Given the description of an element on the screen output the (x, y) to click on. 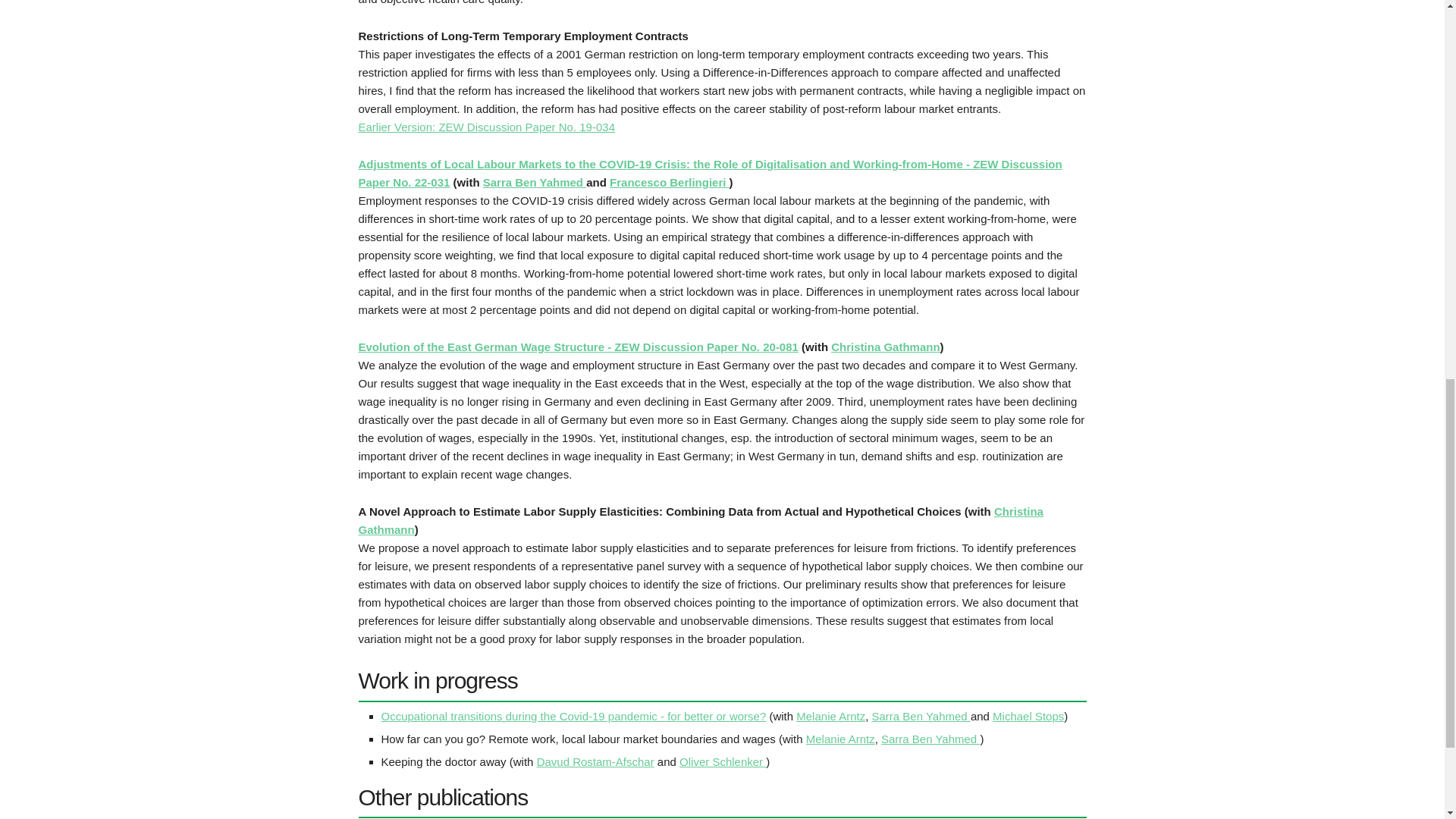
Francesco Berlingieri (669, 182)
Melanie Arntz (840, 738)
Melanie Arntz (830, 716)
Christina Gathmann (885, 346)
Earlier Version: ZEW Discussion Paper No. 19-034 (486, 126)
Davud Rostam-Afschar (595, 761)
Sarra Ben Yahmed (921, 716)
Sarra Ben Yahmed (929, 738)
Oliver Schlenker (722, 761)
Sarra Ben Yahmed (534, 182)
Christina Gathmann (700, 520)
Michael Stops (1028, 716)
